Given the description of an element on the screen output the (x, y) to click on. 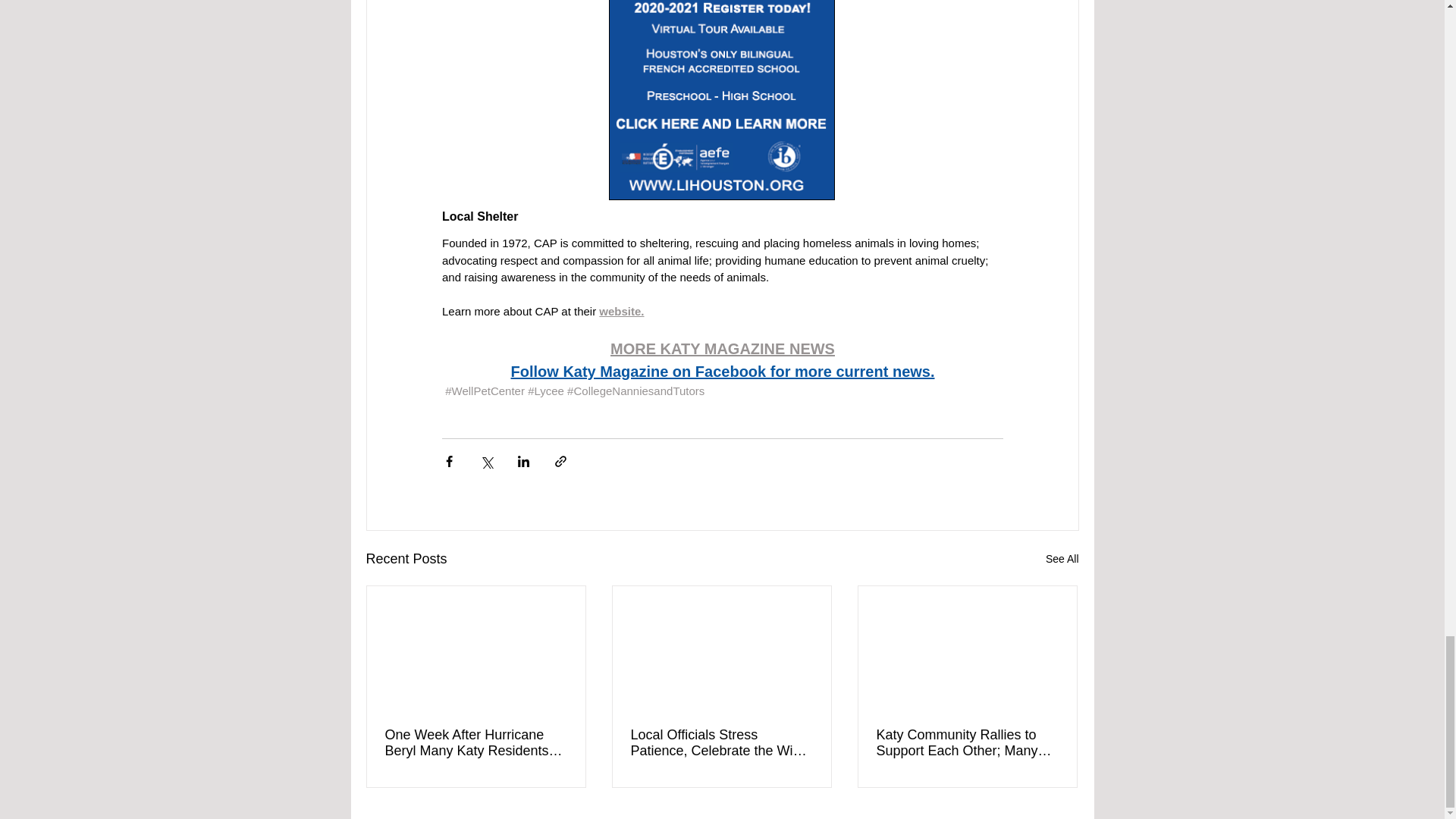
website. (620, 310)
remote content (721, 103)
See All (1061, 558)
MORE KATY MAGAZINE NEWS (722, 348)
Follow Katy Magazine on Facebook for more current news. (722, 371)
